Given the description of an element on the screen output the (x, y) to click on. 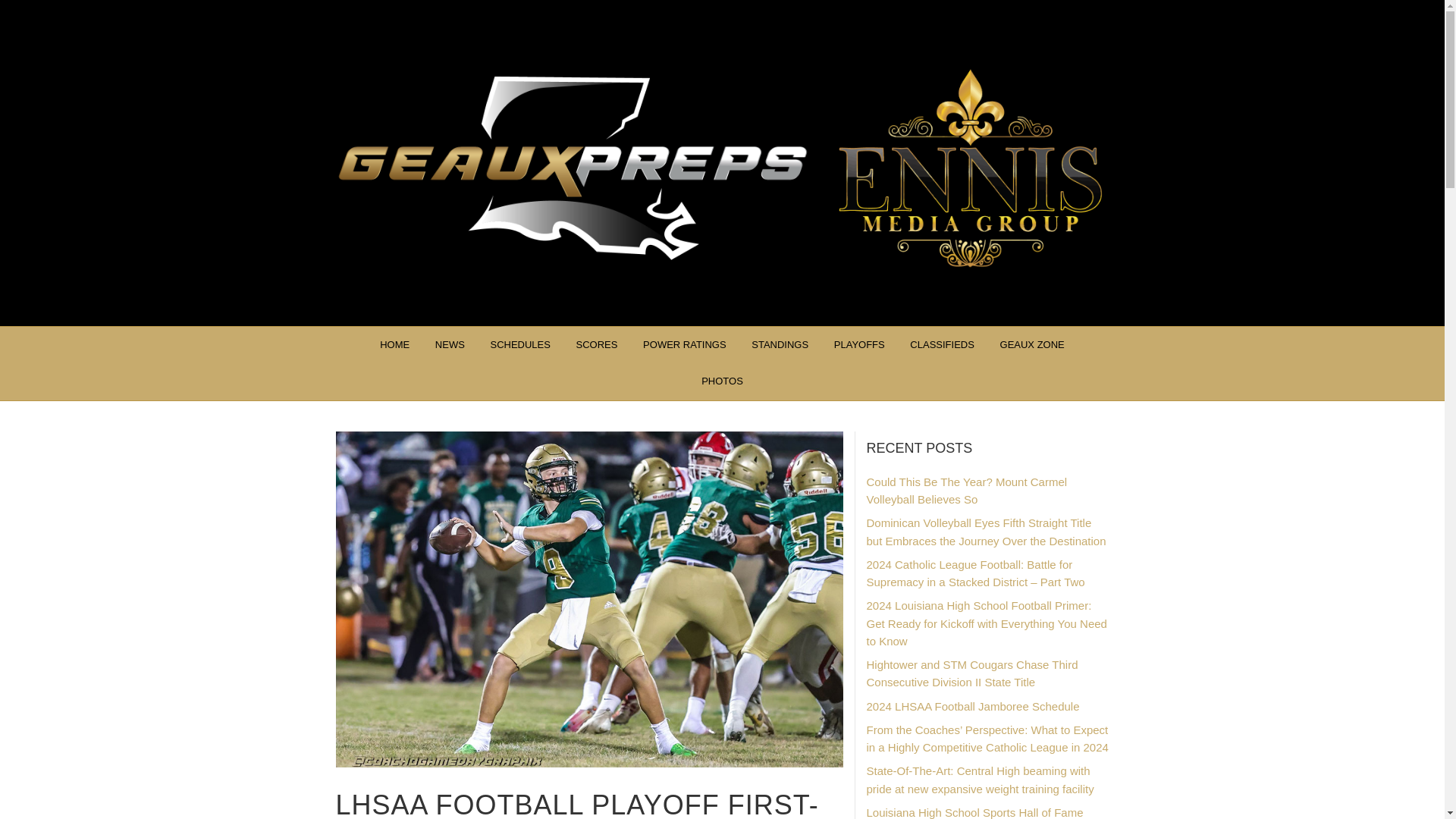
NEWS (449, 344)
PHOTOS (722, 381)
STANDINGS (779, 344)
CLASSIFIEDS (941, 344)
PLAYOFFS (859, 344)
HOME (394, 344)
